Given the description of an element on the screen output the (x, y) to click on. 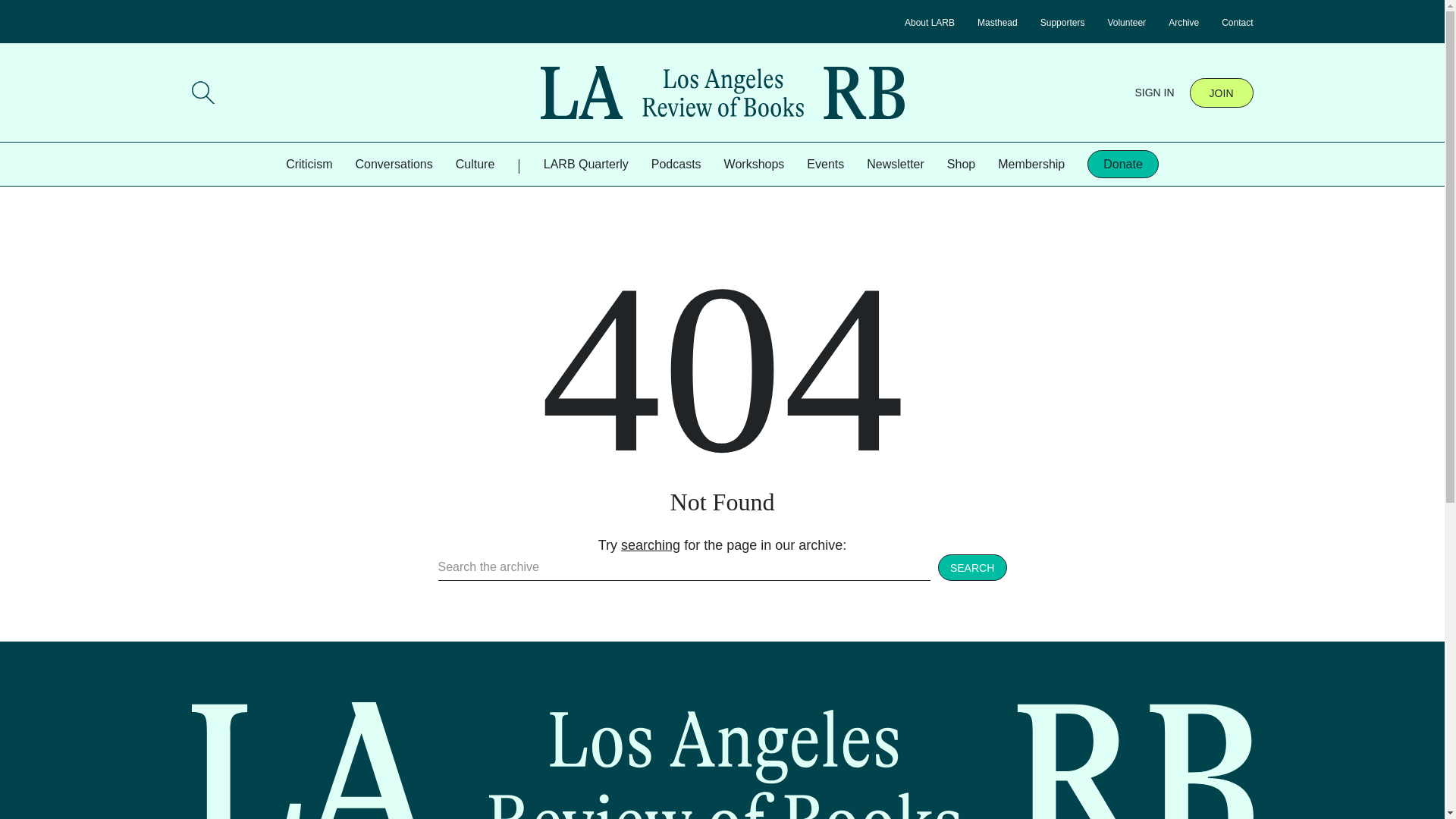
Supporters (1062, 22)
JOIN (1221, 91)
Podcasts (675, 163)
Conversations (393, 163)
3rd party ad content (576, 785)
Contact (1236, 22)
Donate (1122, 163)
SIGN IN (1153, 92)
Culture (475, 163)
SEARCH (972, 566)
Events (825, 163)
Volunteer (1125, 22)
searching (650, 544)
Workshops (753, 163)
Newsletter (895, 163)
